Given the description of an element on the screen output the (x, y) to click on. 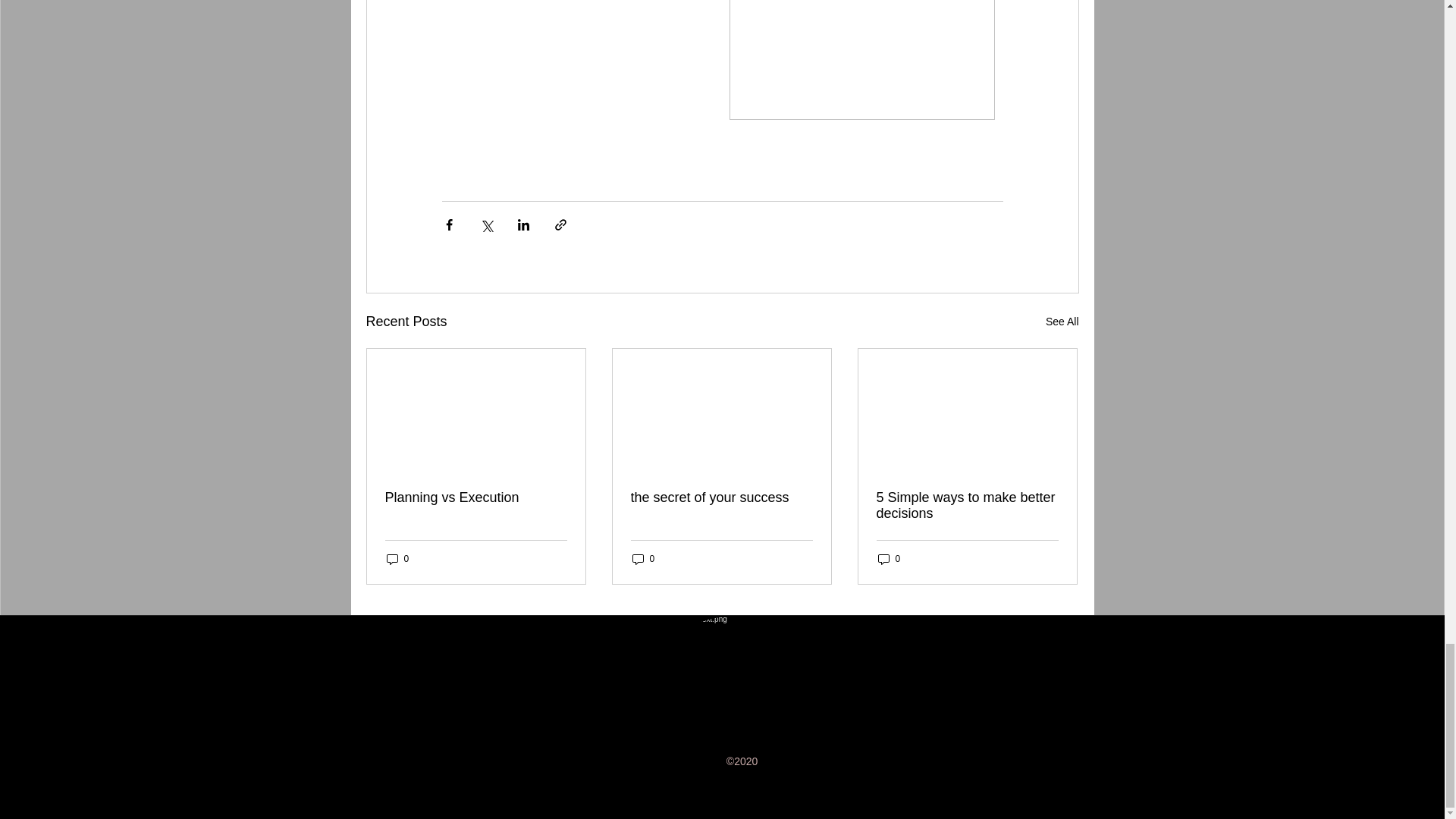
0 (889, 559)
0 (397, 559)
the secret of your success (721, 497)
Planning vs Execution (476, 497)
5 Simple ways to make better decisions (967, 505)
0 (643, 559)
See All (1061, 321)
